Given the description of an element on the screen output the (x, y) to click on. 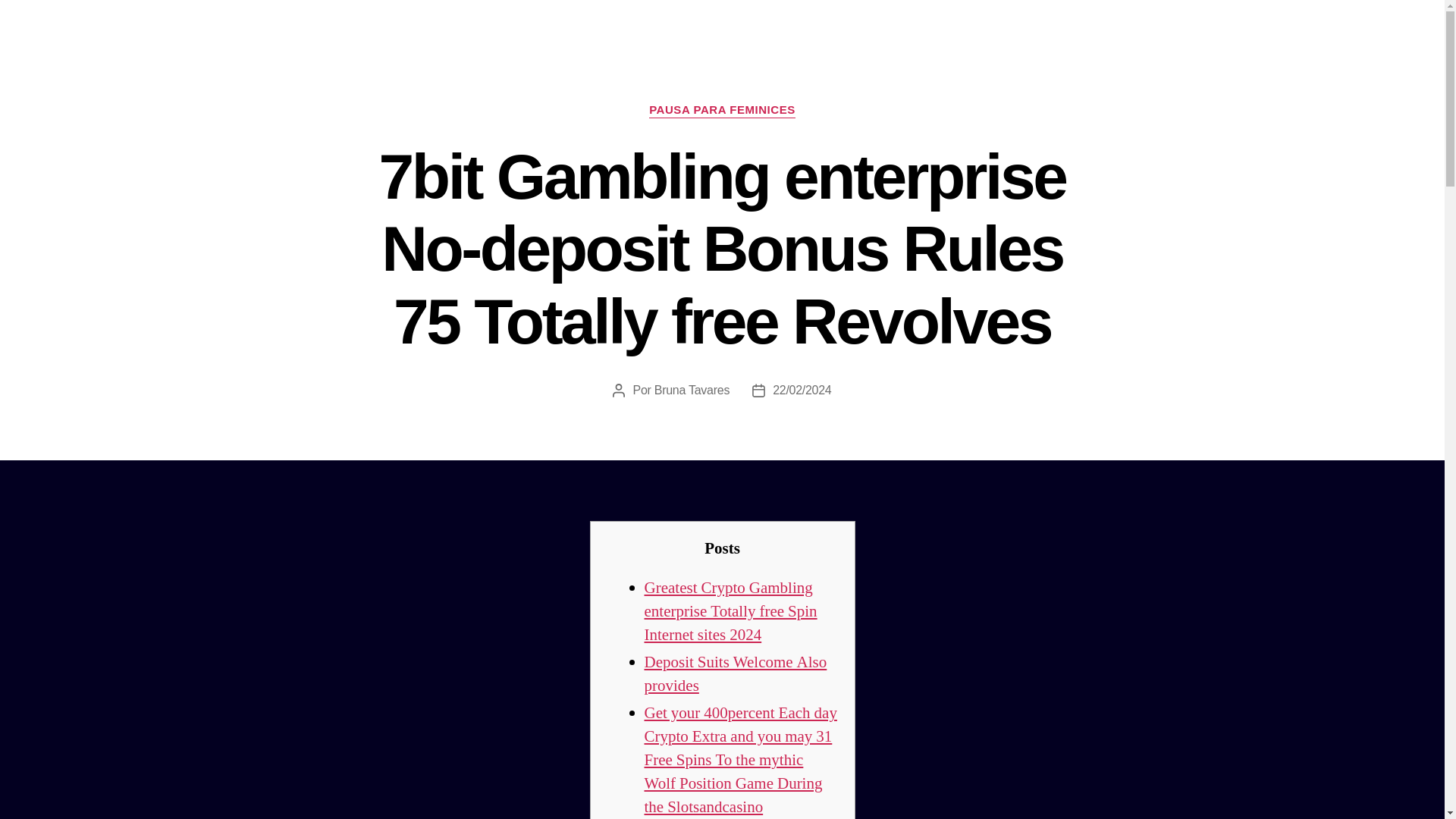
Deposit Suits Welcome Also provides (736, 673)
PAUSA PARA FEMINICES (721, 110)
Bruna Tavares (691, 390)
